Given the description of an element on the screen output the (x, y) to click on. 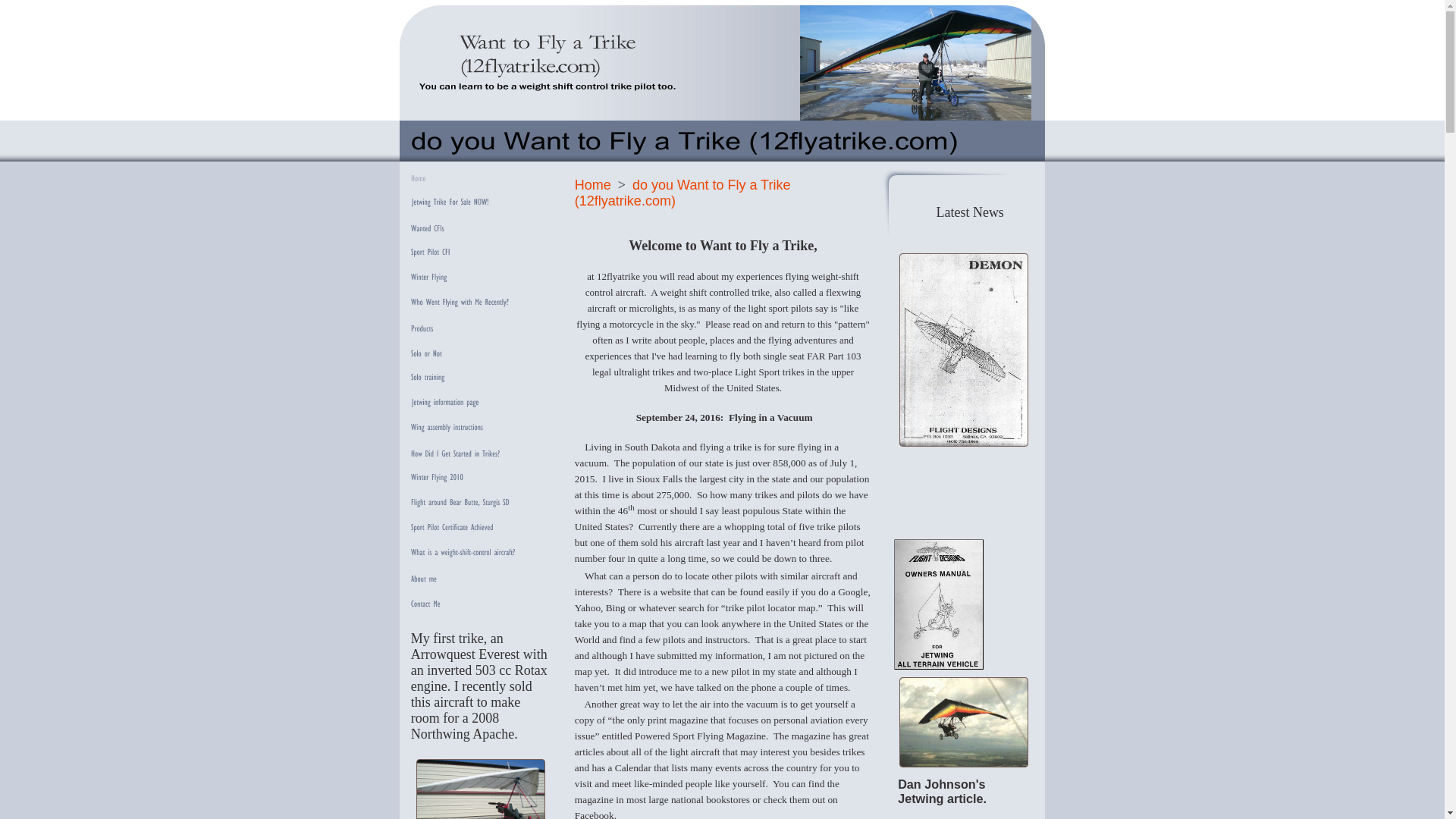
do you Want to Fly a Trike (12flyatrike.com) Element type: text (682, 192)
Home Element type: text (592, 184)
